Given the description of an element on the screen output the (x, y) to click on. 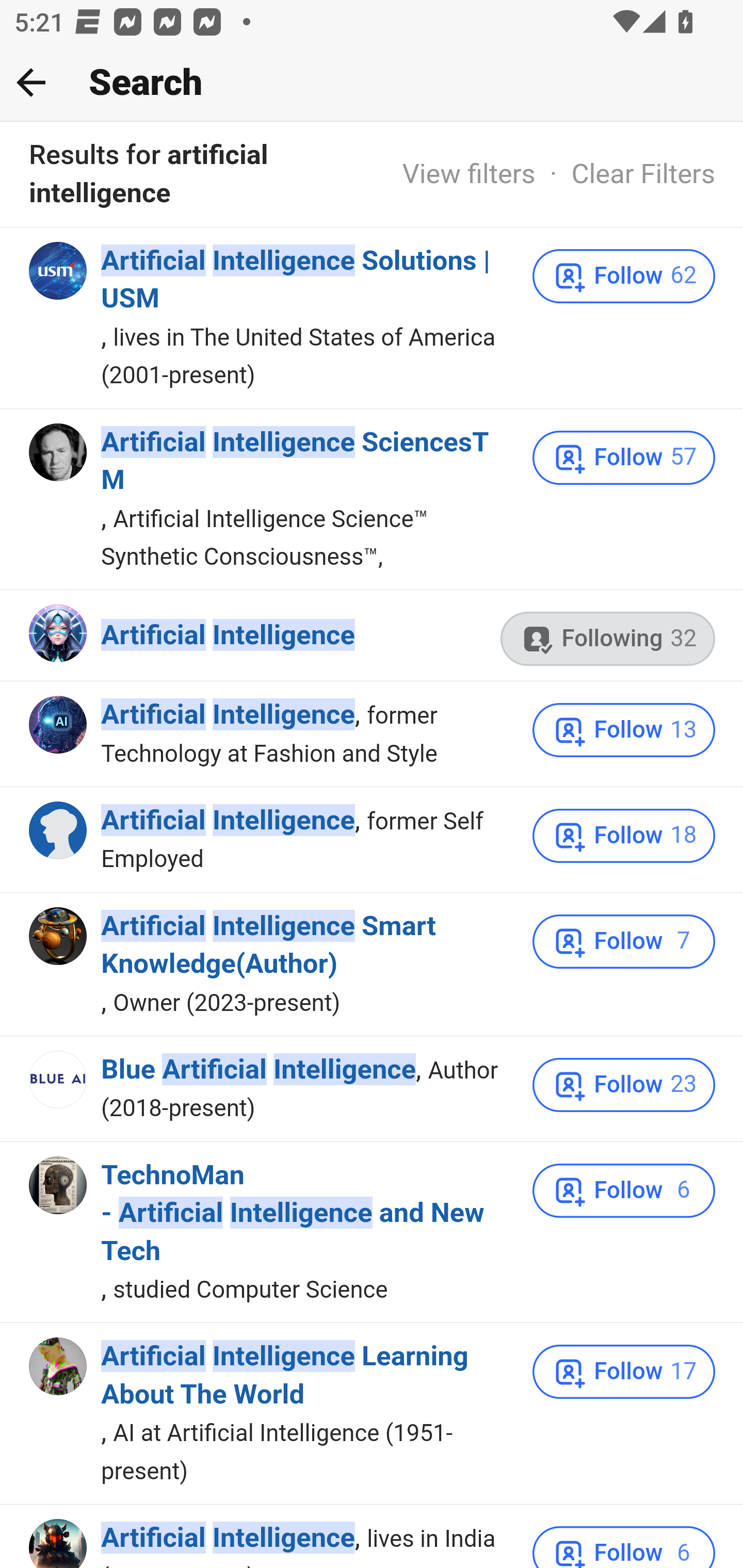
Back Search (371, 82)
Back (30, 82)
View filters (468, 173)
· Clear Filters · Clear Filters (625, 173)
Profile photo for Artificial Intelligence (58, 633)
Following Artificial Intelligence Following 32 (607, 637)
Artificial Intelligence Artificial   Intelligence (228, 635)
Profile photo for Artificial Intelligence (58, 725)
Artificial Intelligence Artificial   Intelligence (228, 715)
Follow Artificial Intelligence Follow 13 (623, 730)
Profile photo for Artificial Intelligence (58, 830)
Artificial Intelligence Artificial   Intelligence (228, 820)
Follow Artificial Intelligence Follow 18 (623, 835)
Profile photo for Blue Artificial Intelligence (58, 1078)
Follow Blue Artificial Intelligence Follow 23 (623, 1084)
Profile photo for Artificial Intelligence (58, 1543)
Artificial Intelligence Artificial   Intelligence (228, 1538)
Follow Artificial Intelligence Follow 6 (623, 1546)
